Given the description of an element on the screen output the (x, y) to click on. 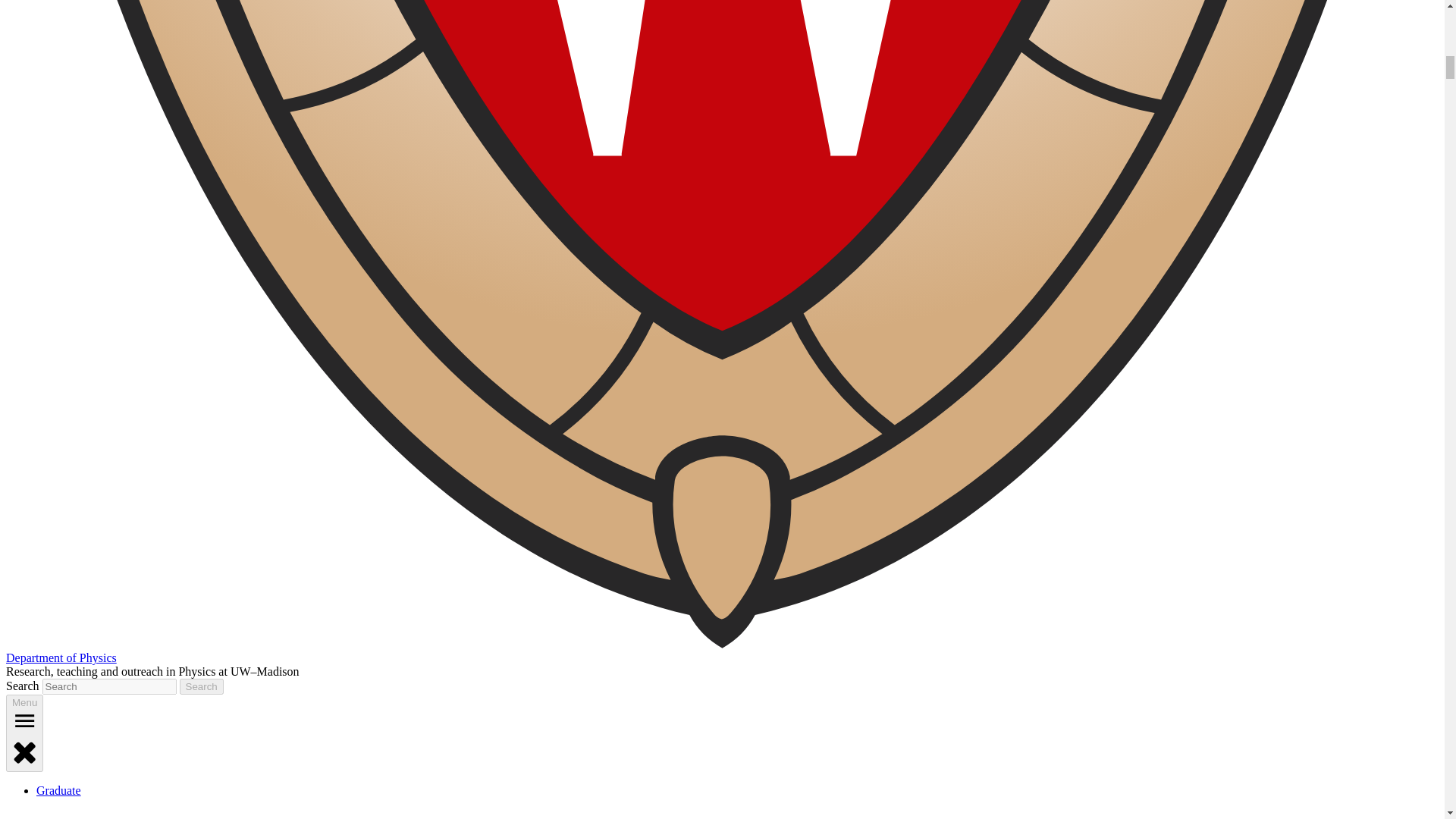
Search (201, 686)
Search (201, 686)
Department of Physics (60, 657)
open menu (24, 720)
Search (201, 686)
